Given the description of an element on the screen output the (x, y) to click on. 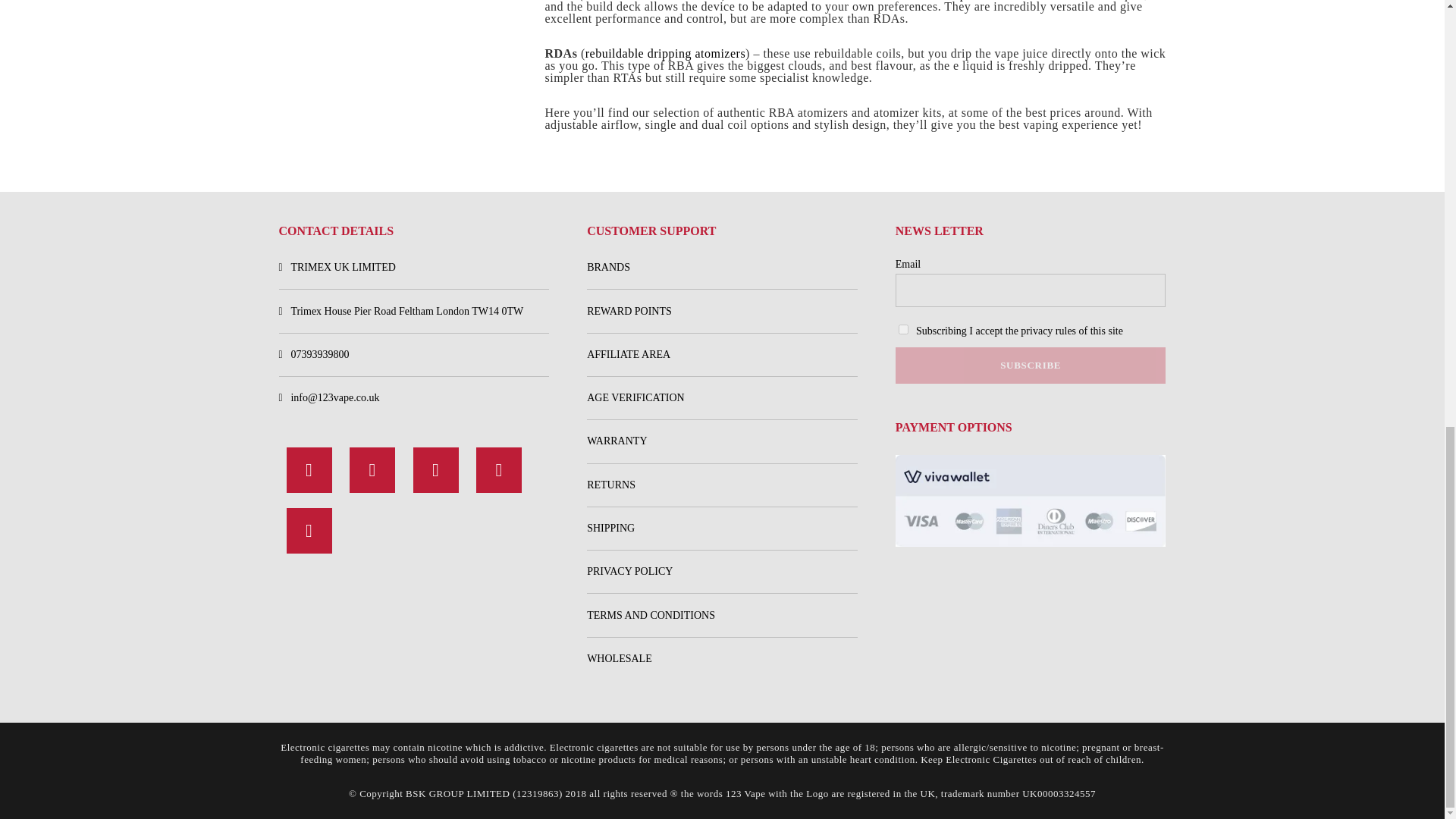
on (903, 329)
Subscribe (1030, 365)
